Given the description of an element on the screen output the (x, y) to click on. 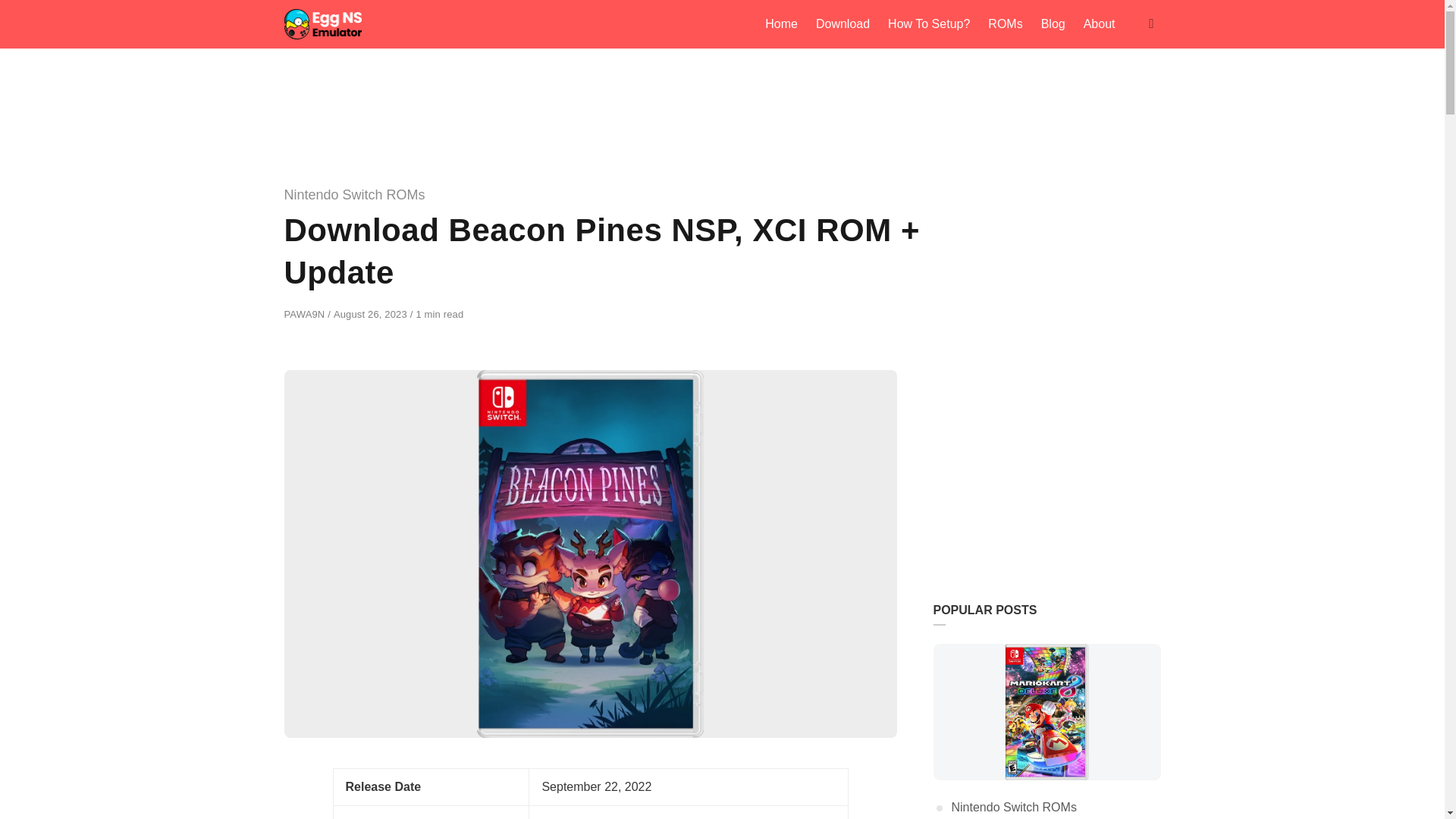
Home (780, 24)
ROMs (1004, 24)
August 26, 2023 (371, 314)
Download (842, 24)
Advertisement (1046, 464)
How To Setup? (928, 24)
Nintendo Switch ROMs (354, 194)
Nintendo Switch ROMs (1012, 807)
PAWA9N (305, 314)
